Given the description of an element on the screen output the (x, y) to click on. 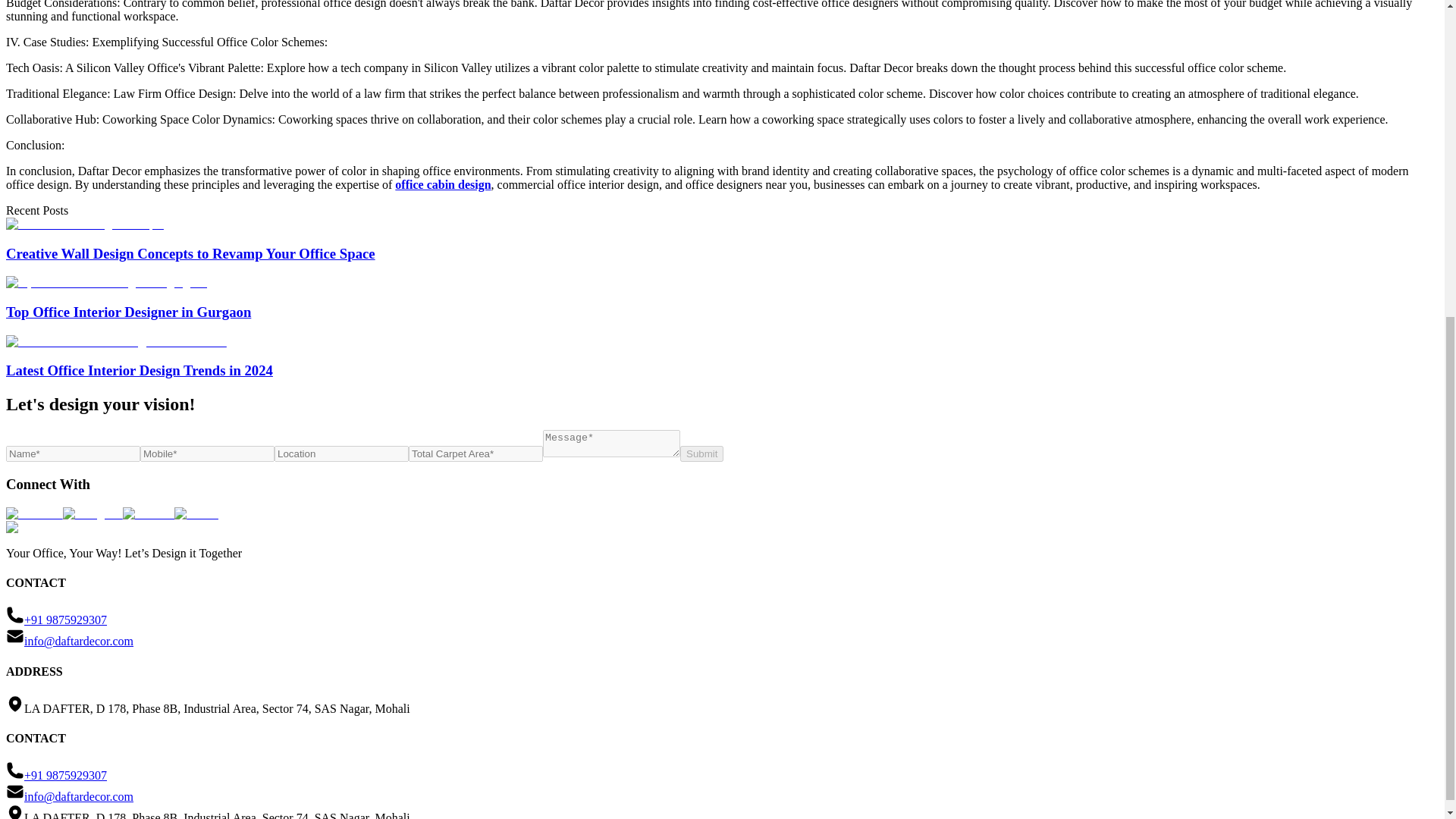
office cabin design (442, 184)
Submit (701, 453)
